Given the description of an element on the screen output the (x, y) to click on. 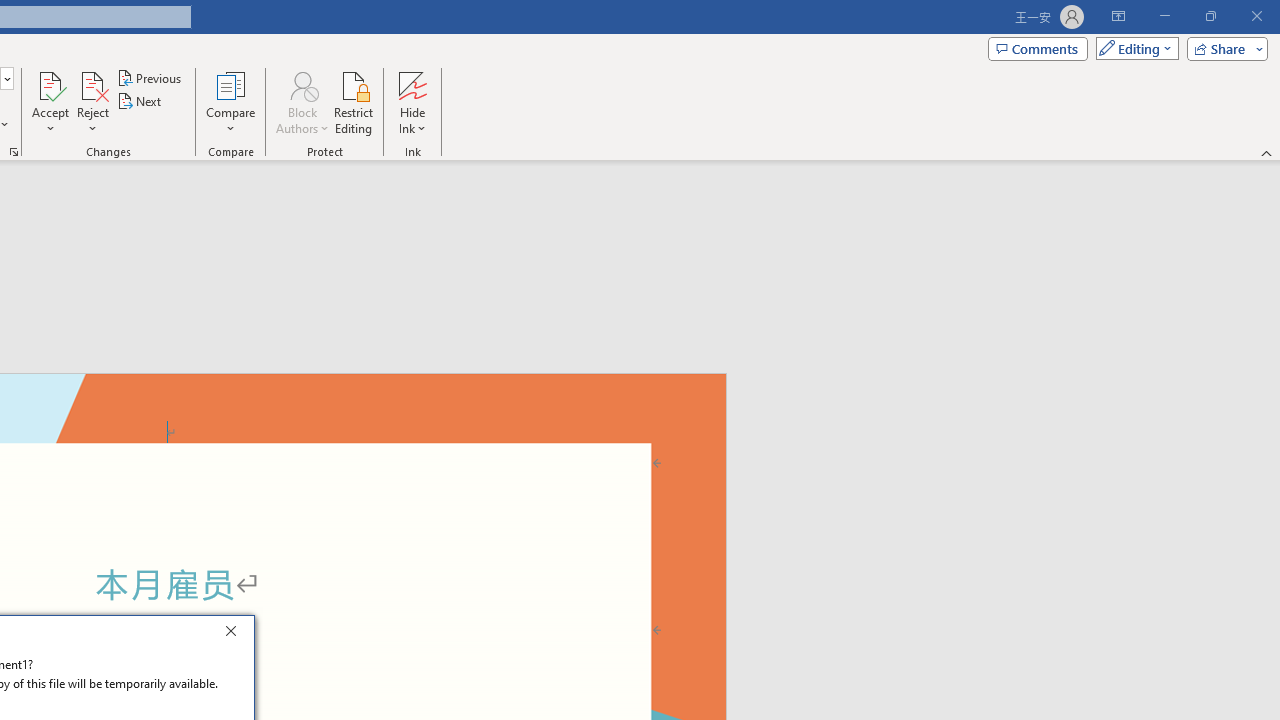
Previous (150, 78)
Accept (50, 102)
Block Authors (302, 102)
Comments (1038, 48)
Block Authors (302, 84)
Reject (92, 102)
Ribbon Display Options (1118, 16)
